Given the description of an element on the screen output the (x, y) to click on. 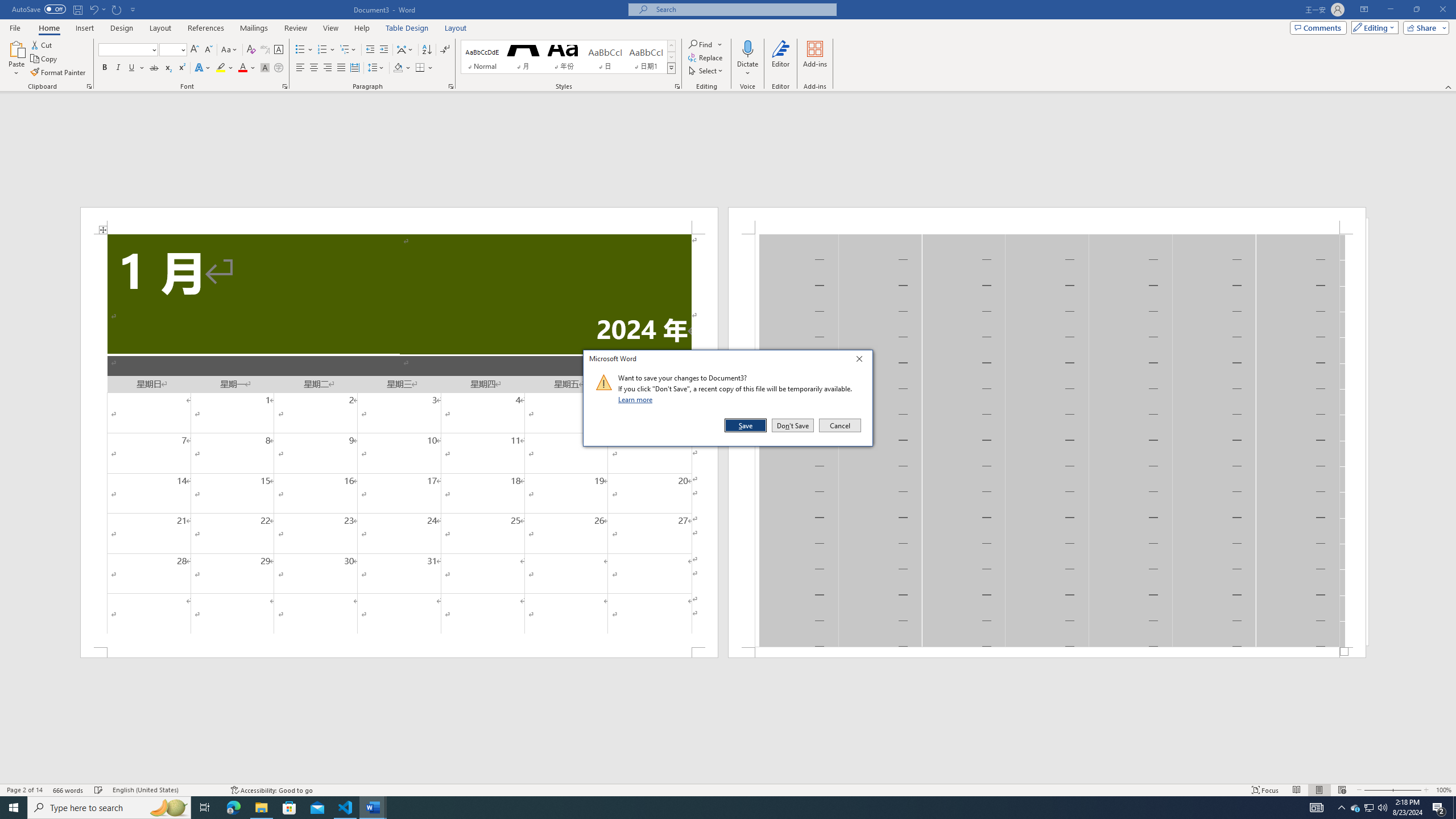
Class: MsoCommandBar (728, 789)
Paragraph... (450, 85)
Undo Distribute Para (92, 9)
Format Painter (58, 72)
Microsoft Edge (233, 807)
Superscript (180, 67)
Header -Section 1- (1046, 220)
Align Right (327, 67)
Page Number Page 2 of 14 (24, 790)
Select (705, 69)
Text Highlight Color Yellow (220, 67)
Search highlights icon opens search home window (167, 807)
Font Color (246, 67)
